Given the description of an element on the screen output the (x, y) to click on. 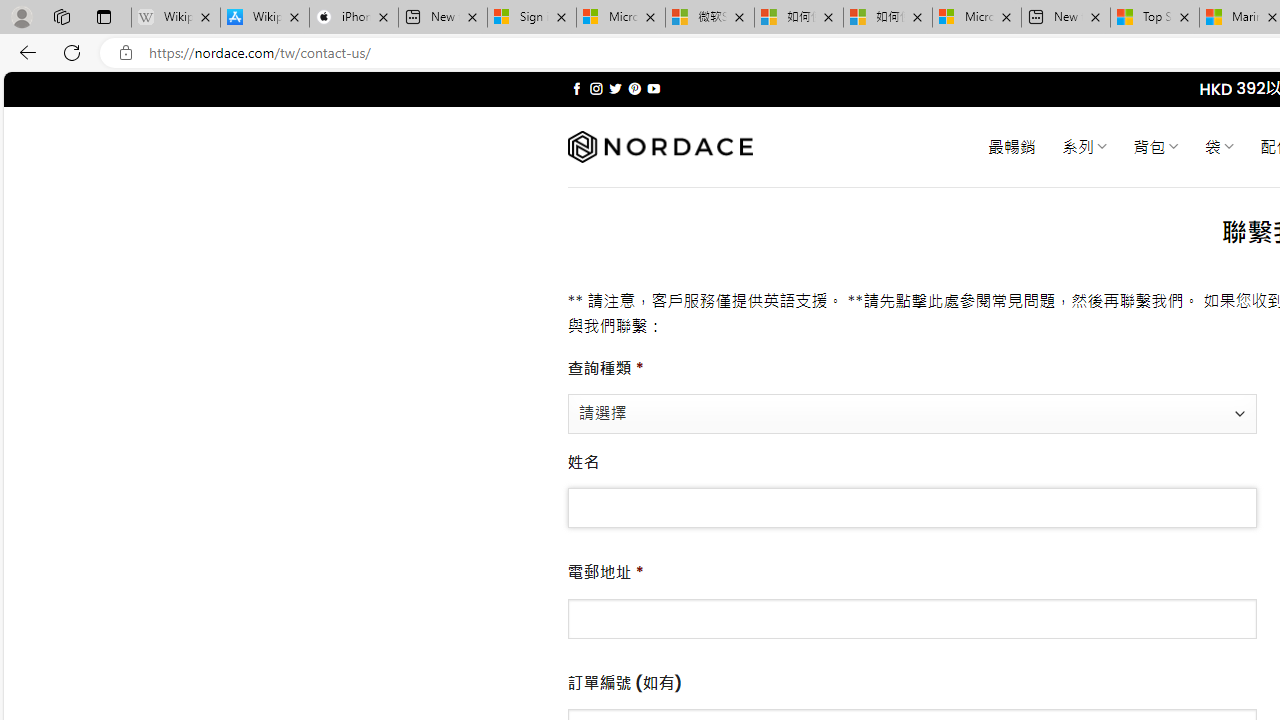
iPhone - Apple (353, 17)
Follow on YouTube (653, 88)
Follow on Pinterest (634, 88)
